Given the description of an element on the screen output the (x, y) to click on. 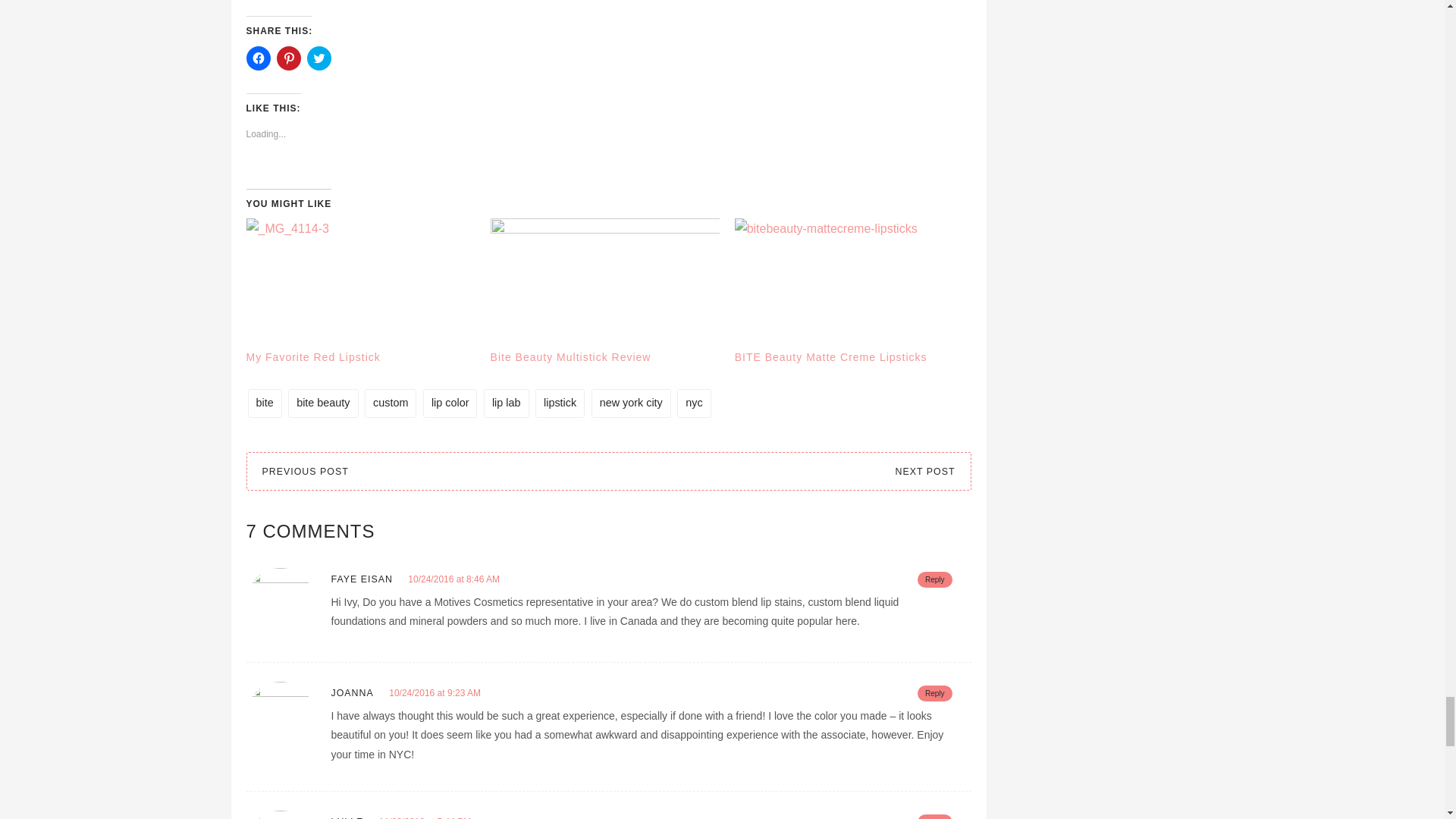
My Favorite Red Lipstick (313, 357)
Bite Beauty Multistick Review (570, 357)
Click to share on Pinterest (287, 57)
lip color (450, 403)
Click to share on Facebook (257, 57)
My Favorite Red Lipstick (313, 357)
bite beauty (323, 403)
custom (390, 403)
Click to share on Twitter (317, 57)
lipstick (560, 403)
bite (264, 403)
Bite Beauty Multistick Review (570, 357)
BITE Beauty Matte Creme Lipsticks (831, 357)
My Favorite Red Lipstick (360, 283)
lip lab (506, 403)
